Given the description of an element on the screen output the (x, y) to click on. 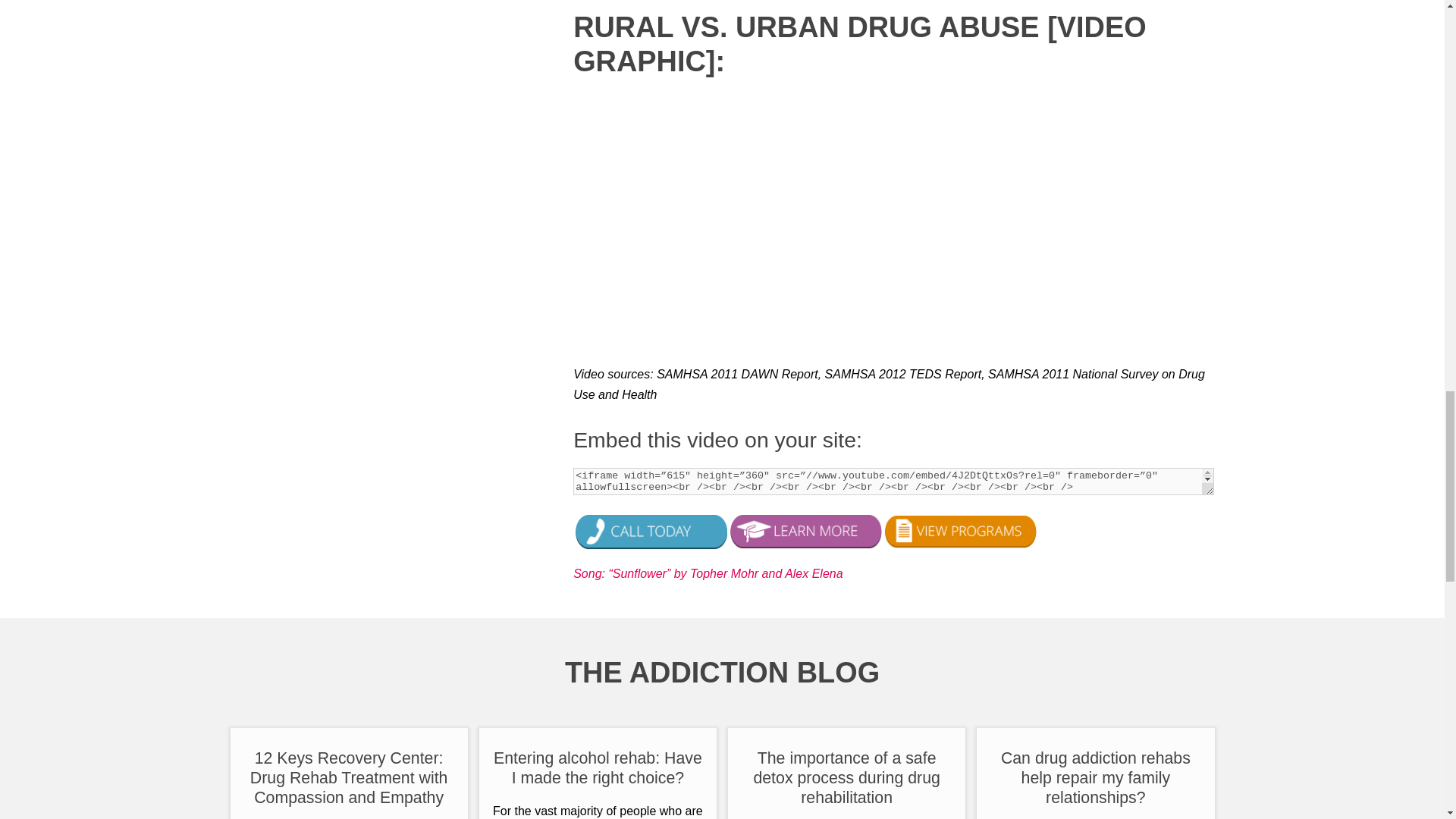
Entering alcohol rehab: Have I made the right choice? (598, 768)
